Given the description of an element on the screen output the (x, y) to click on. 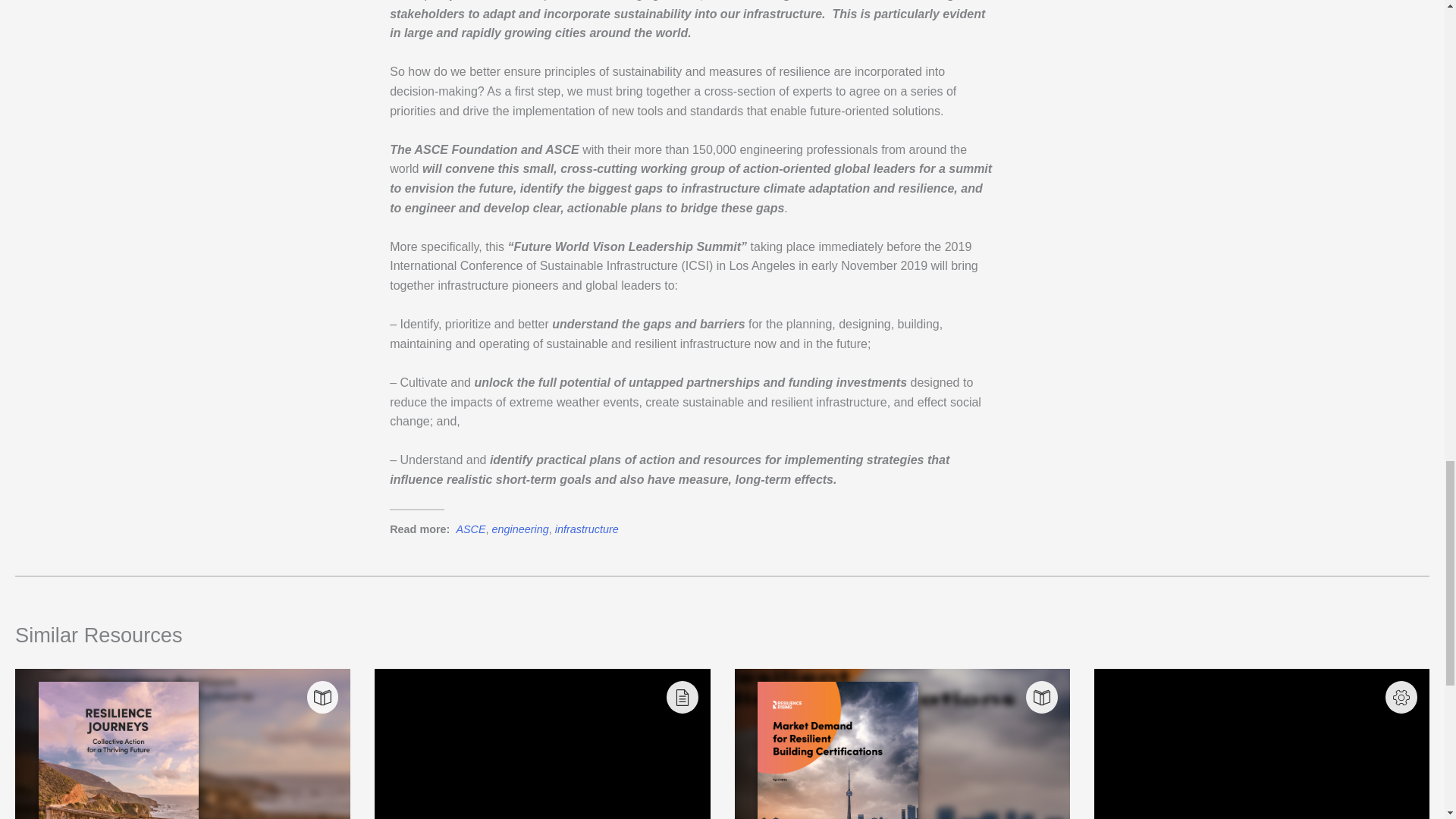
engineering (520, 529)
infrastructure (586, 529)
ASCE (469, 529)
